Given the description of an element on the screen output the (x, y) to click on. 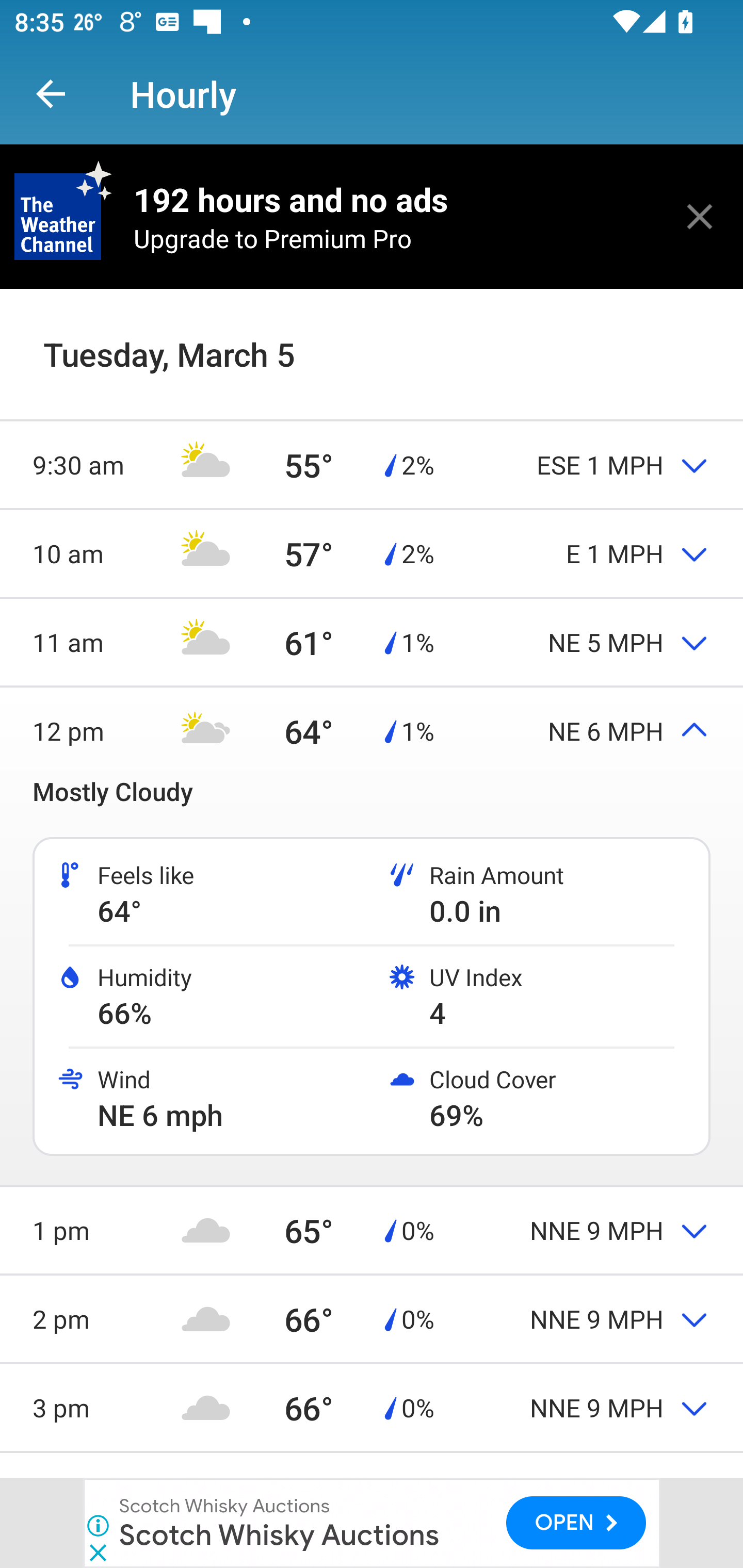
Navigate up (50, 93)
close this (699, 216)
9:30 am 55° 2% ESE 1 MPH (371, 464)
10 am 57° 2% E 1 MPH (371, 553)
11 am 61° 1% NE 5 MPH (371, 641)
12 pm 64° 1% NE 6 MPH (371, 730)
1 pm 65° 0% NNE 9 MPH (371, 1229)
2 pm 66° 0% NNE 9 MPH (371, 1318)
3 pm 66° 0% NNE 9 MPH (371, 1407)
Scotch Whisky Auctions (225, 1505)
OPEN (576, 1522)
Scotch Whisky Auctions (278, 1533)
